Given the description of an element on the screen output the (x, y) to click on. 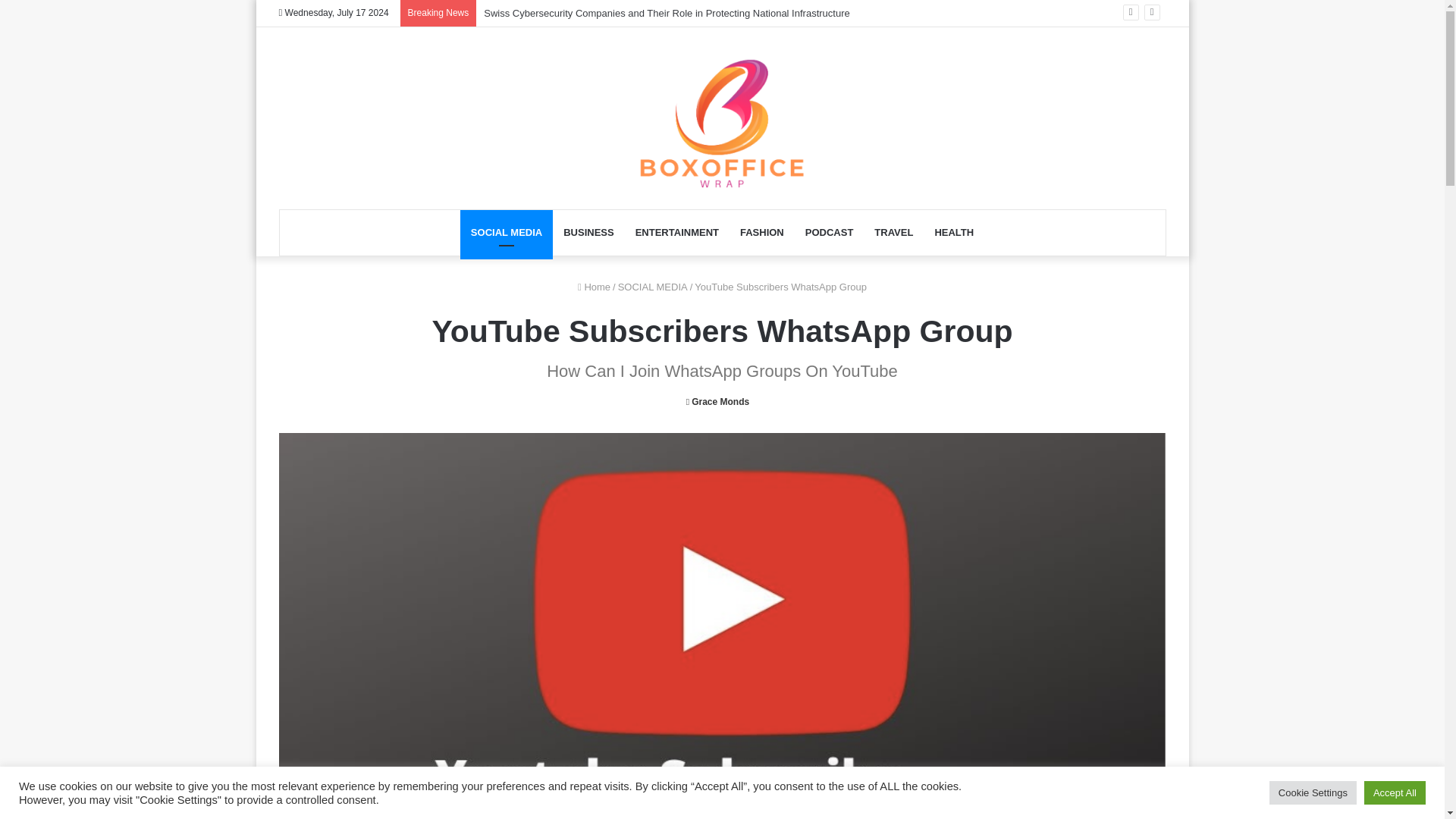
Home (594, 286)
HEALTH (953, 232)
TRAVEL (893, 232)
Grace Monds (717, 401)
PODCAST (829, 232)
ENTERTAINMENT (676, 232)
SOCIAL MEDIA (506, 232)
SOCIAL MEDIA (652, 286)
boxofficewrap (722, 125)
BUSINESS (588, 232)
Grace Monds (717, 401)
FASHION (761, 232)
